Given the description of an element on the screen output the (x, y) to click on. 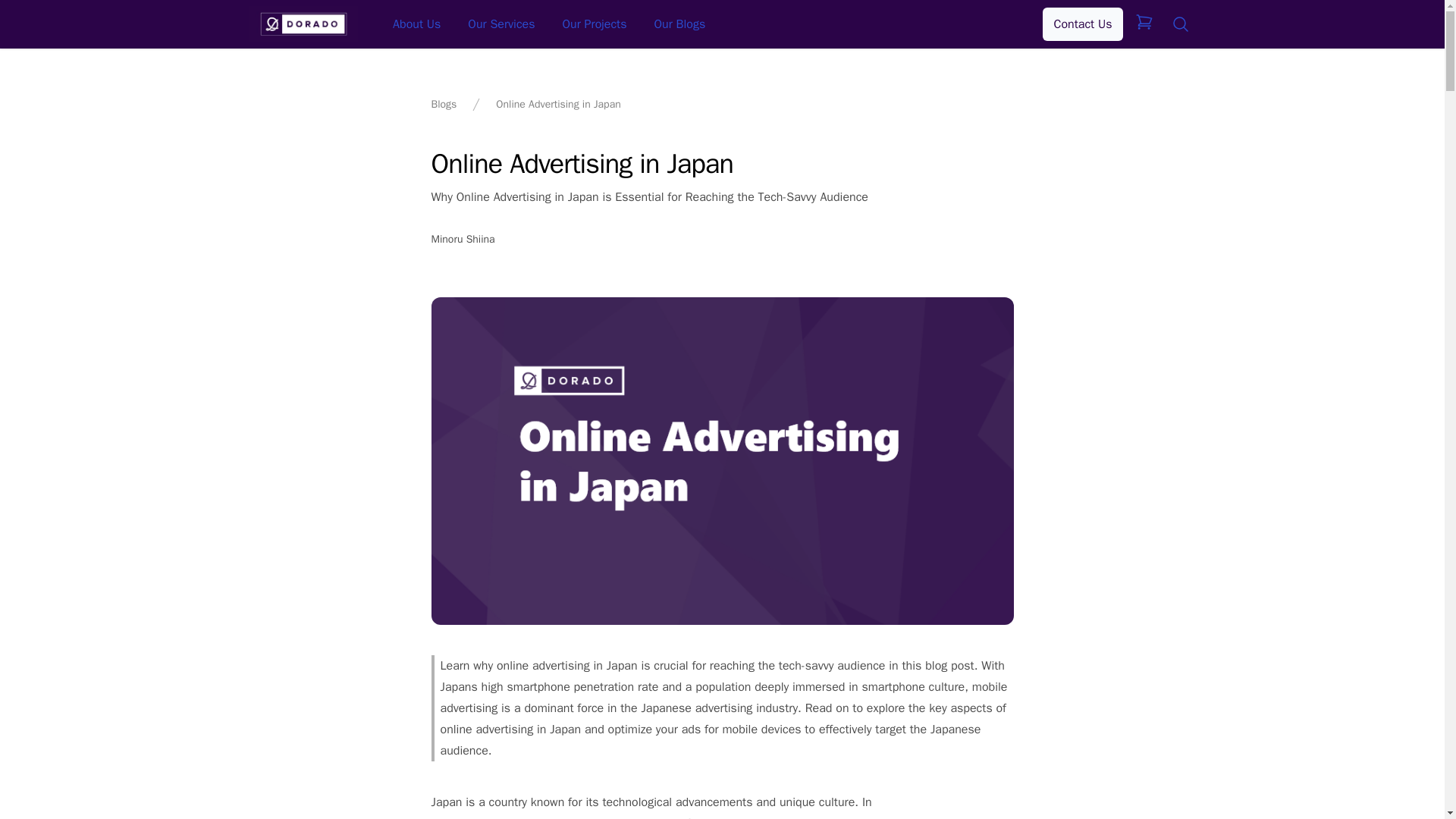
Blogs (443, 104)
Online Advertising in Japan (558, 104)
items in cart, view bag (1143, 20)
Minoru Shiina (462, 238)
About Us (417, 23)
Contact Us (1082, 23)
Our Projects (594, 23)
Our Services (500, 23)
Our Blogs (679, 23)
